Given the description of an element on the screen output the (x, y) to click on. 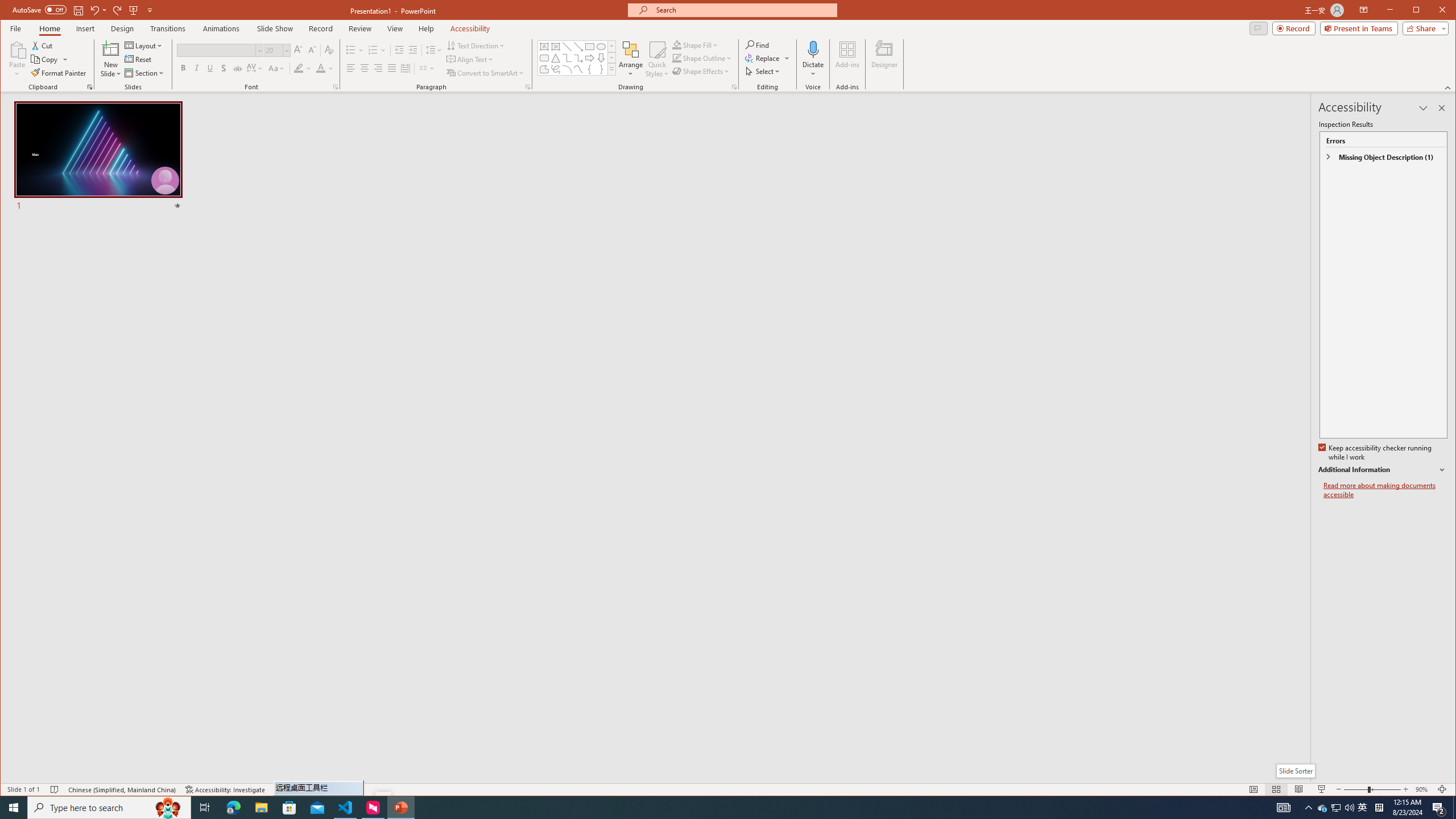
Distributed (405, 68)
Section (144, 72)
Layout (143, 45)
Align Text (470, 59)
Isosceles Triangle (556, 57)
Keep accessibility checker running while I work (1375, 452)
Justify (391, 68)
Reset (138, 59)
